Given the description of an element on the screen output the (x, y) to click on. 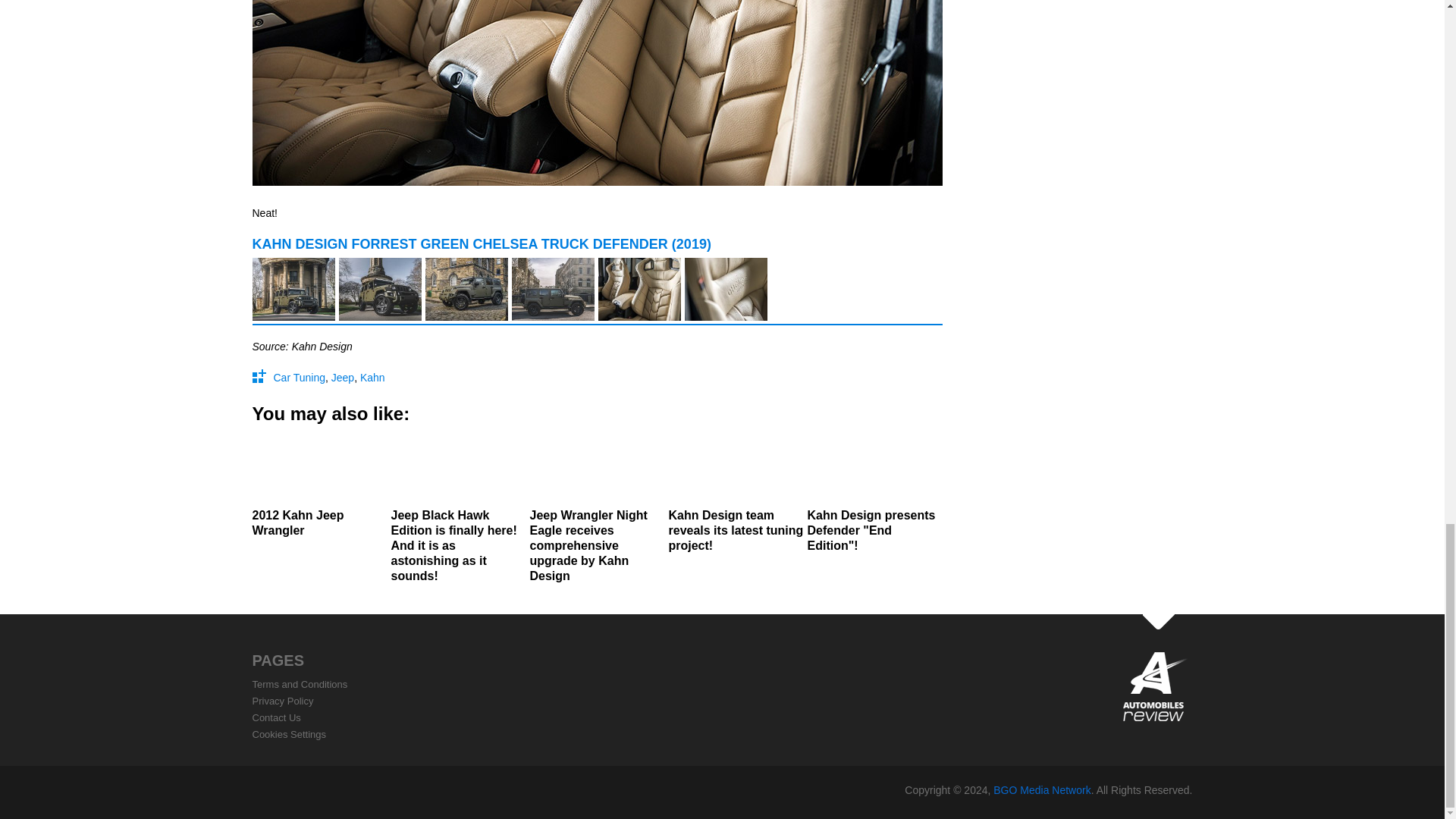
Contact Us (275, 717)
Kahn Design presents Defender "End Edition"! (874, 495)
Contact Us (275, 717)
Terms and Conditions (299, 684)
Kahn Design team reveals its latest tuning project! (735, 495)
Car Tuning (298, 377)
Privacy Policy (282, 700)
Terms and Conditions (299, 684)
2012 Kahn Jeep Wrangler (319, 487)
Privacy Policy (282, 700)
